Given the description of an element on the screen output the (x, y) to click on. 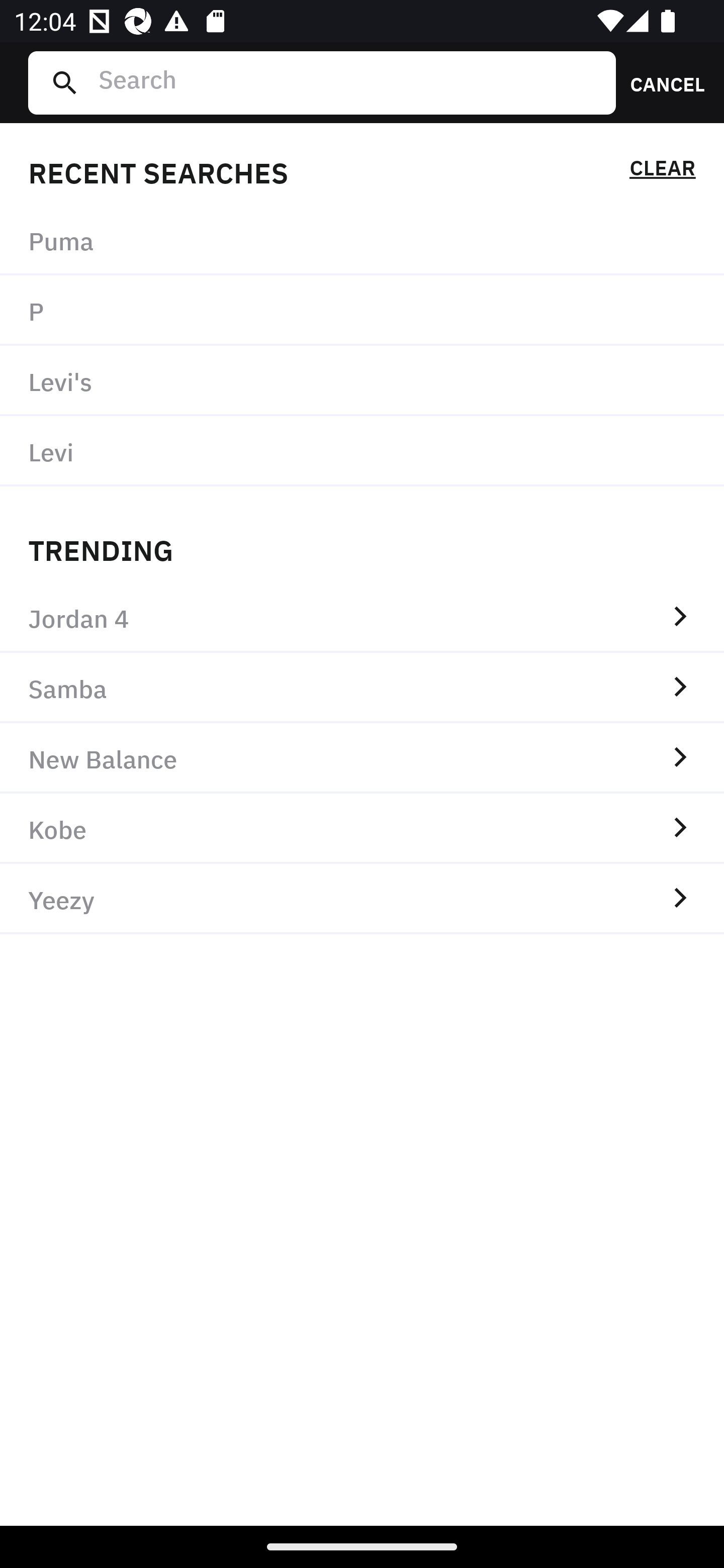
CANCEL (660, 82)
Search (349, 82)
CLEAR (662, 170)
Puma (362, 240)
P (362, 310)
Levi's (362, 380)
Levi (362, 450)
Jordan 4  (362, 616)
Samba  (362, 687)
New Balance  (362, 757)
Kobe  (362, 828)
Yeezy  (362, 898)
